Given the description of an element on the screen output the (x, y) to click on. 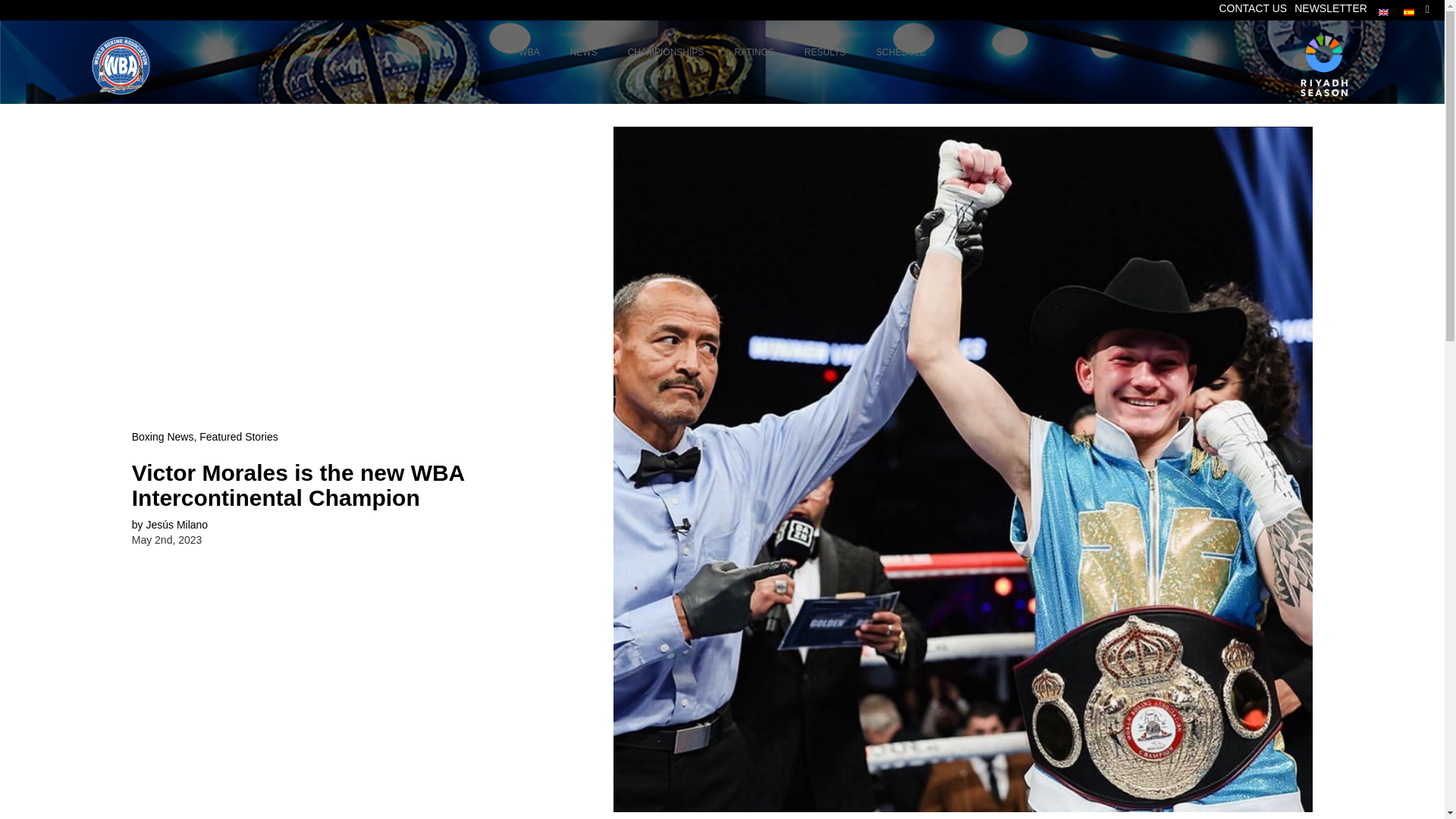
CHAMPIONSHIPS (721, 53)
WBA (665, 53)
NEWSLETTER (528, 53)
RATINGS (1330, 7)
NEWS (754, 53)
CONTACT US (583, 53)
